Given the description of an element on the screen output the (x, y) to click on. 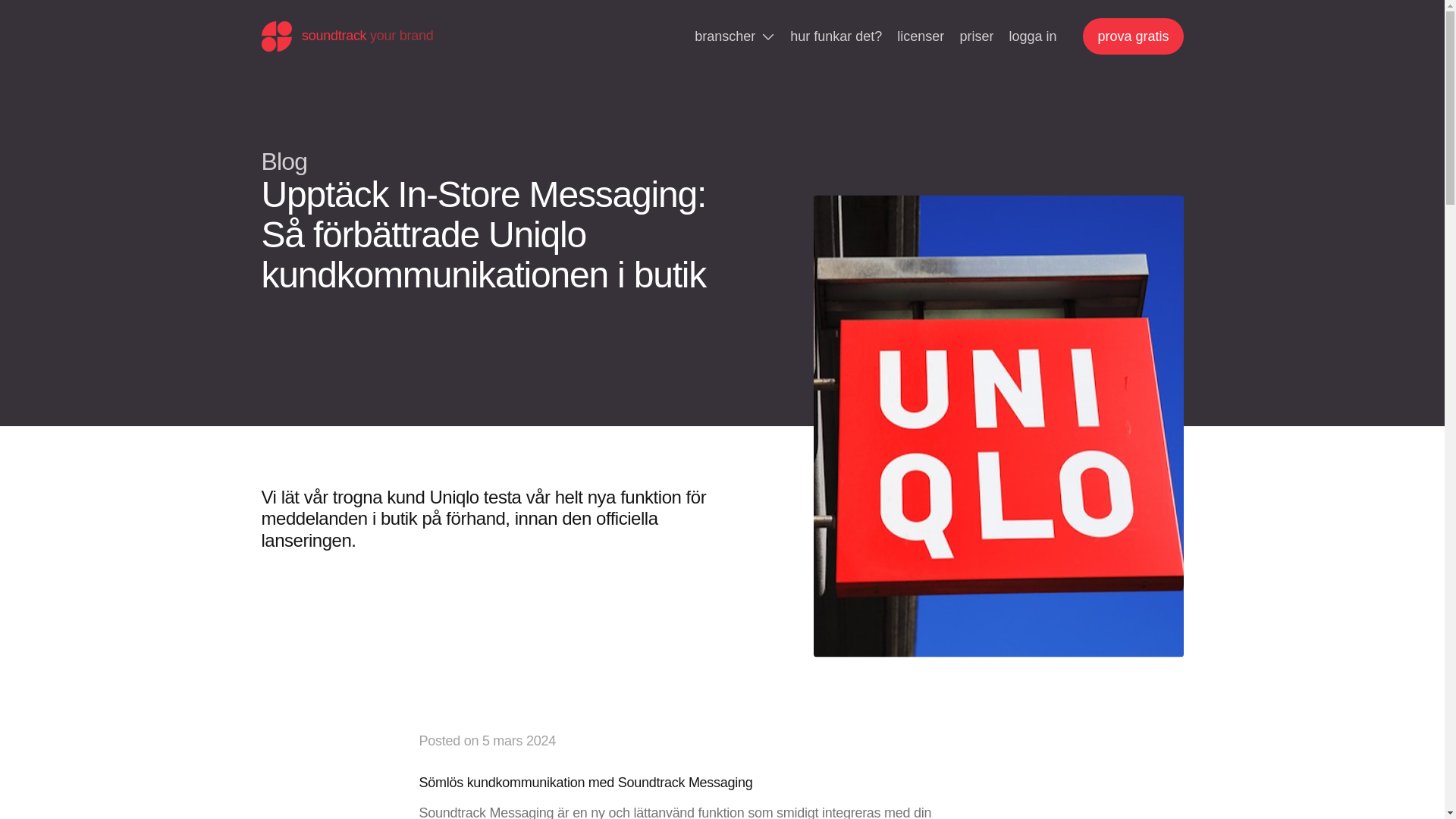
licenser (920, 36)
prova gratis (1132, 36)
logga in (1032, 36)
soundtrack your brand (346, 36)
priser (976, 36)
hur funkar det? (835, 36)
branscher (735, 36)
